Given the description of an element on the screen output the (x, y) to click on. 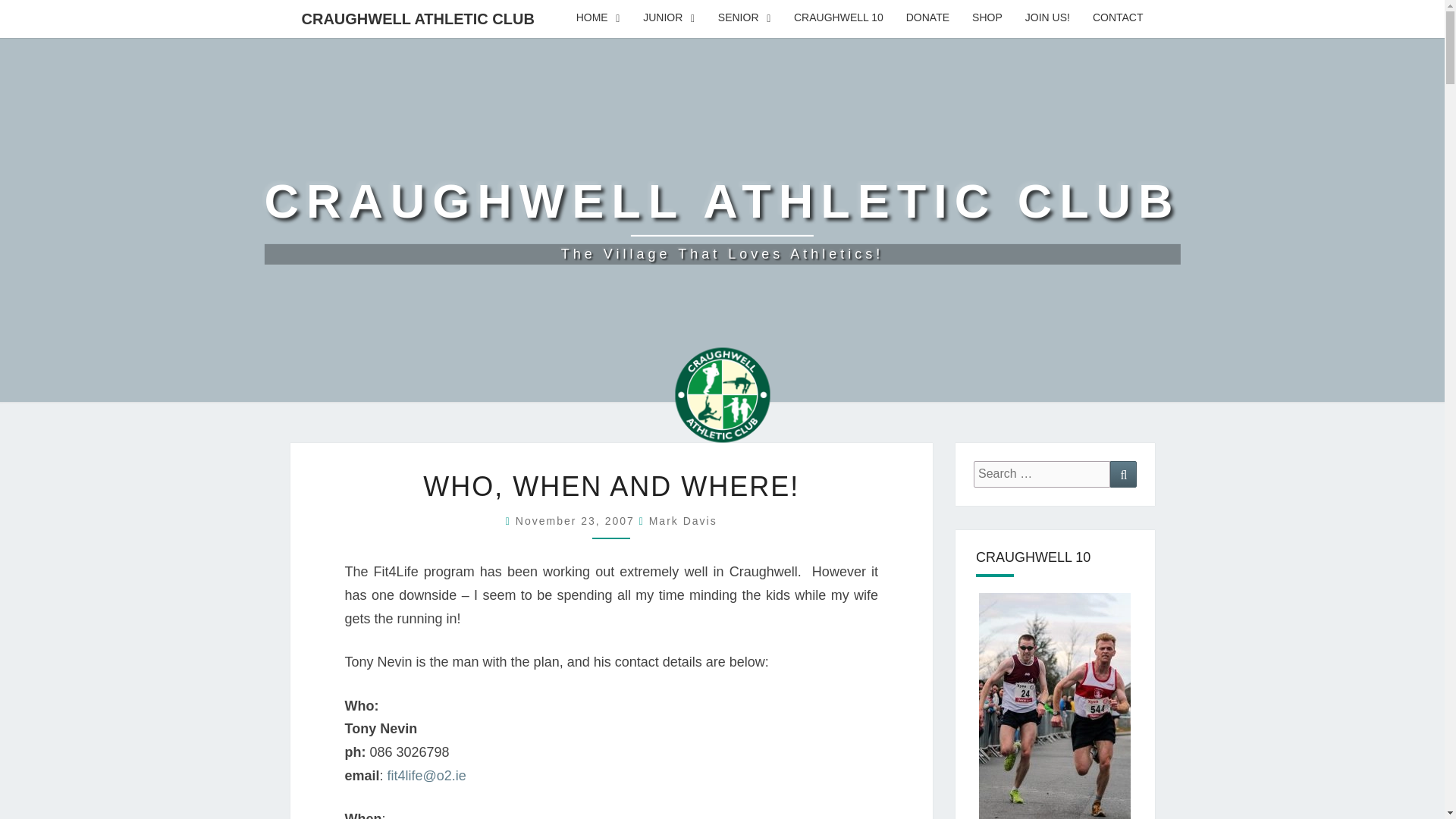
JUNIOR (721, 219)
CONTACT (668, 18)
6:11 pm (1117, 18)
SENIOR (577, 521)
SHOP (744, 18)
Mark Davis (986, 18)
HOME (683, 521)
JOIN US! (597, 18)
CRAUGHWELL ATHLETIC CLUB (1047, 18)
